Given the description of an element on the screen output the (x, y) to click on. 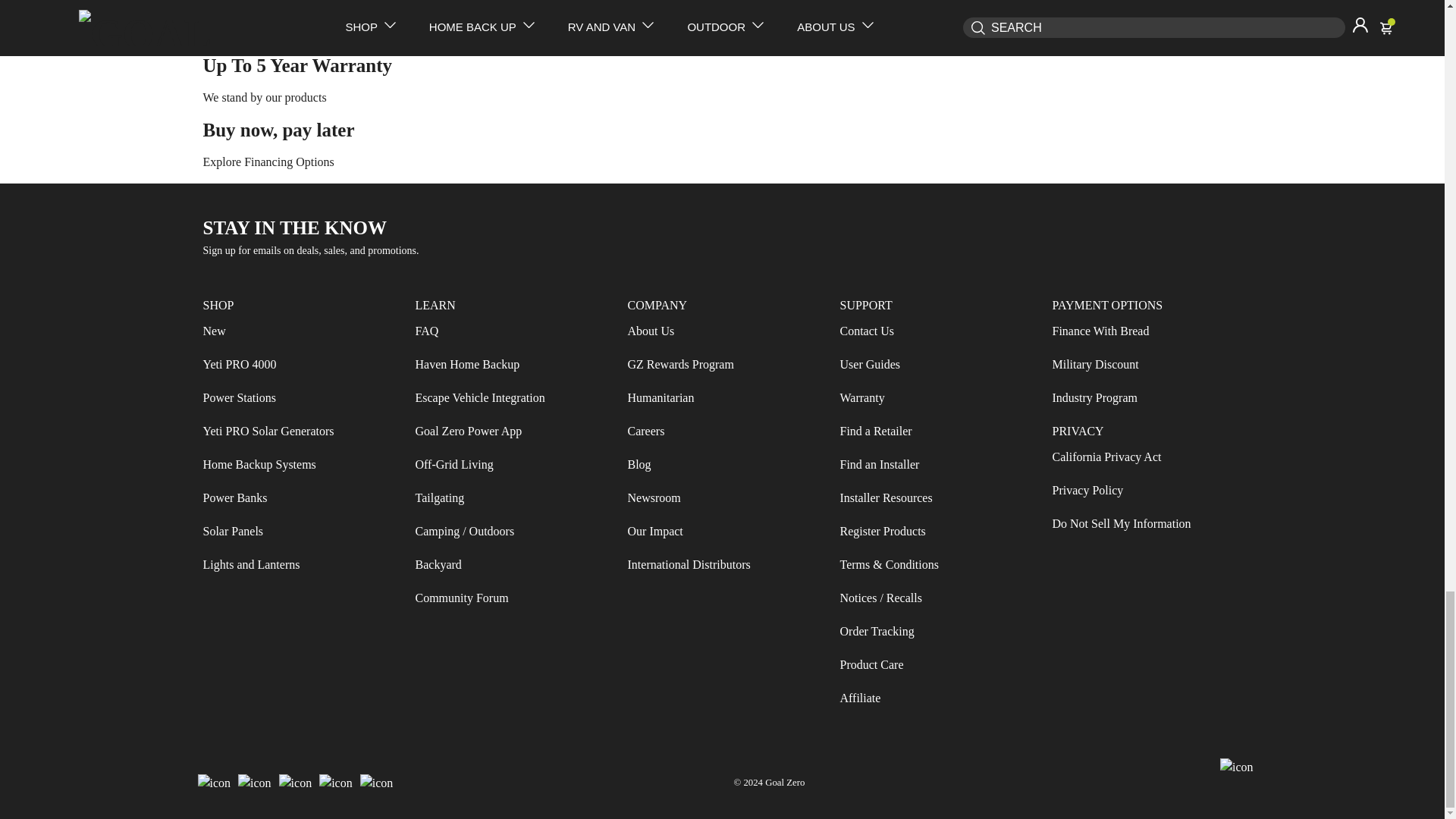
Goal Zero on Twitter (295, 782)
Goal Zero on Facebook (213, 782)
Goal Zero on YouTube (336, 782)
Goal Zero on Pinterest (377, 782)
Goal Zero on Instagram (254, 782)
